Given the description of an element on the screen output the (x, y) to click on. 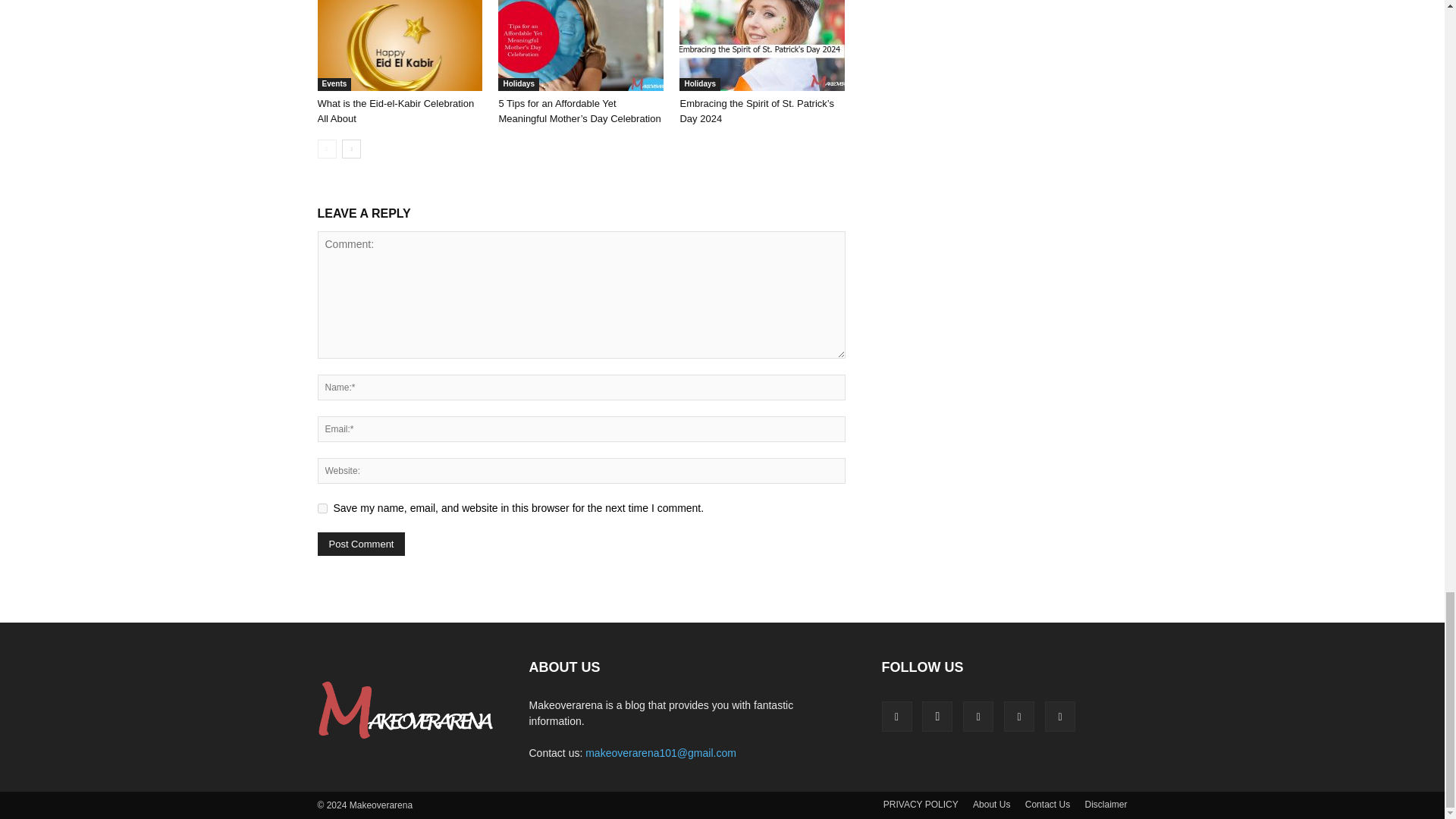
What is the Eid-el-Kabir Celebration All About (399, 45)
yes (321, 508)
Post Comment (360, 544)
